Given the description of an element on the screen output the (x, y) to click on. 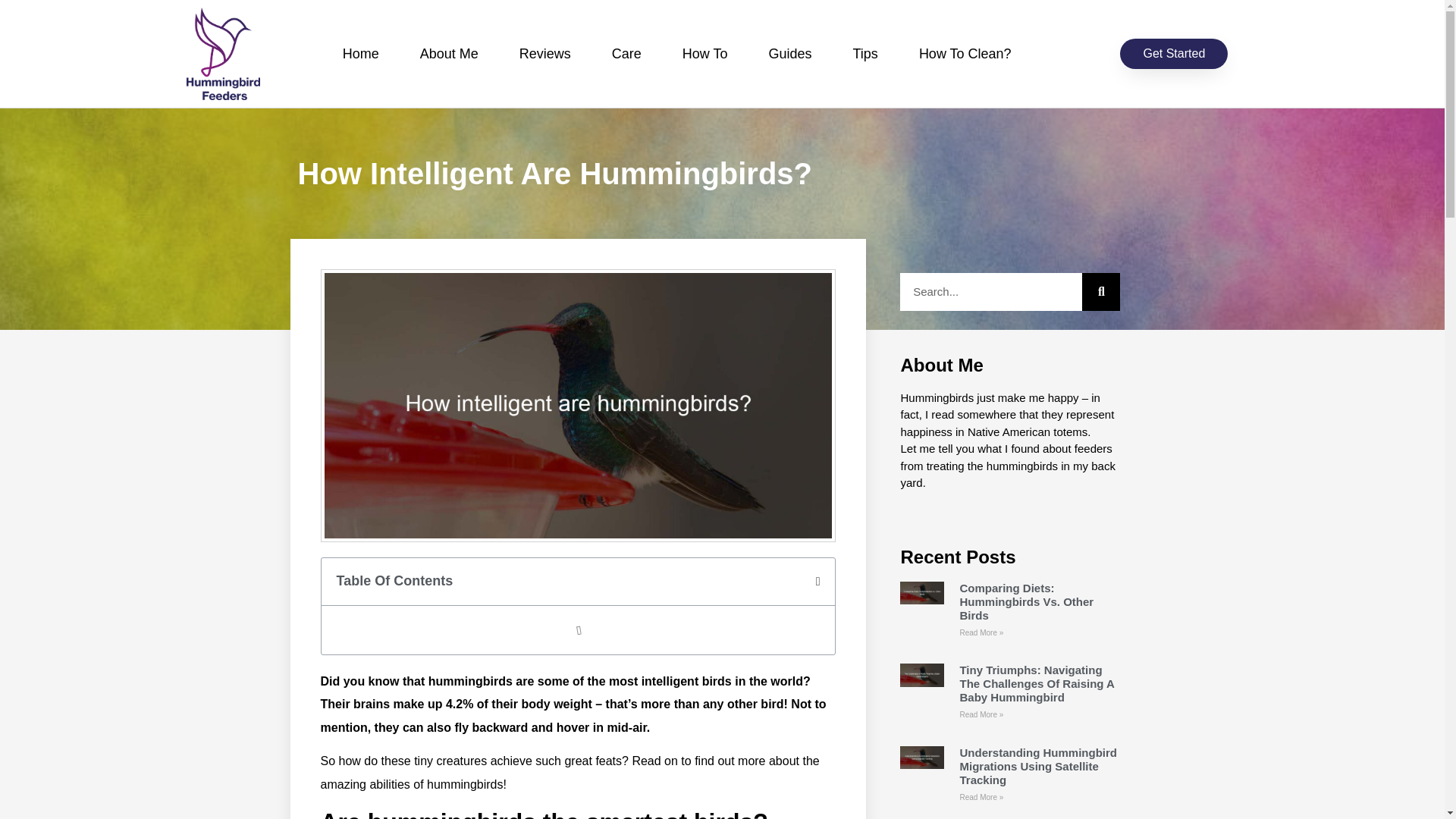
About Me (448, 53)
Comparing Diets: Hummingbirds Vs. Other Birds (1026, 601)
Guides (789, 53)
Care (626, 53)
Get Started (1173, 53)
How To Clean? (965, 53)
Home (359, 53)
How To (705, 53)
Tips (865, 53)
